Given the description of an element on the screen output the (x, y) to click on. 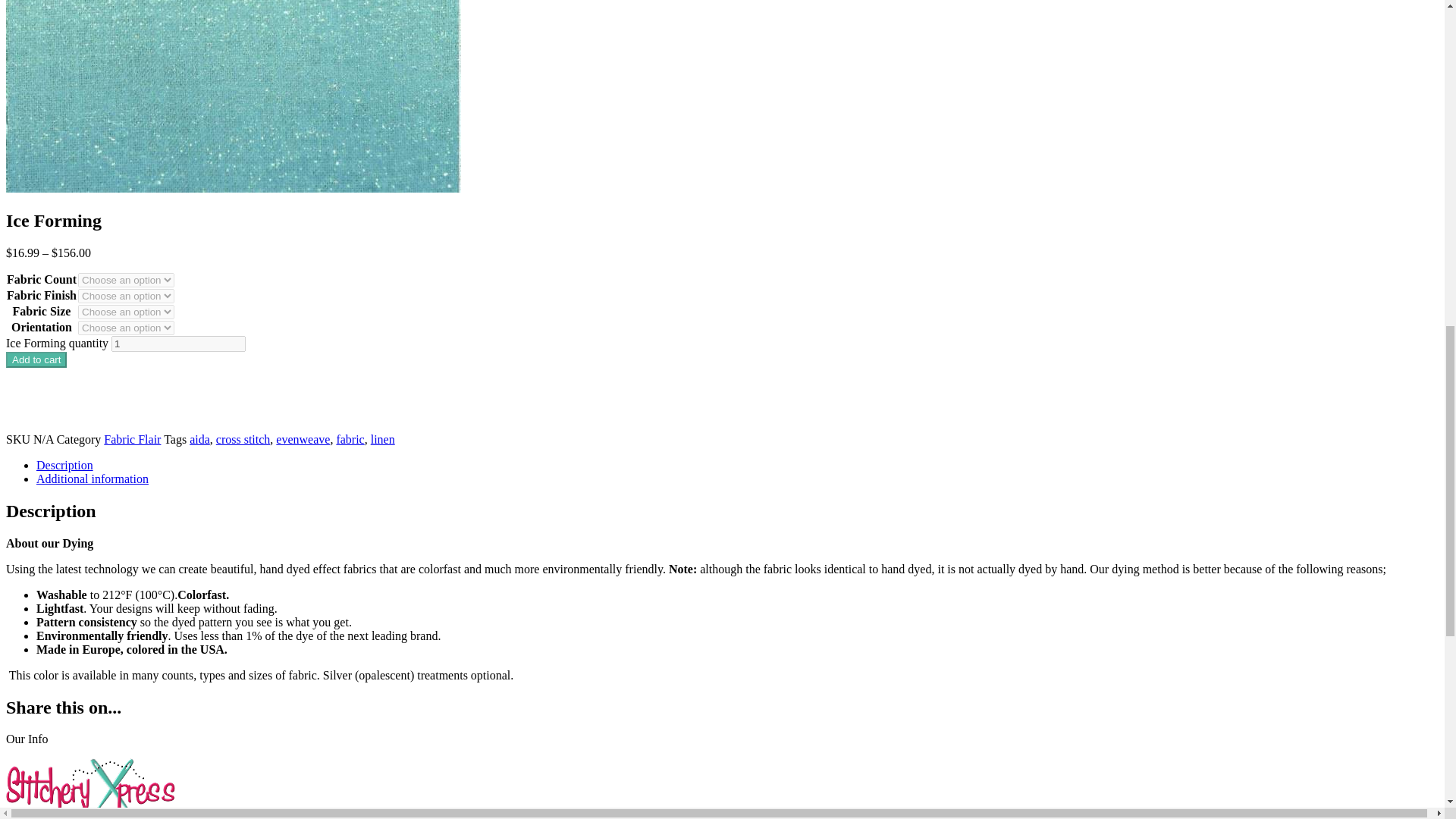
Add to cart (35, 359)
linen (382, 439)
PayPal Message 1 (721, 375)
PayPal (721, 408)
aida (199, 439)
cross stitch (242, 439)
1 (179, 343)
Description (64, 464)
fabric (350, 439)
evenweave (303, 439)
Additional information (92, 478)
ice forming (233, 96)
Fabric Flair (131, 439)
